Given the description of an element on the screen output the (x, y) to click on. 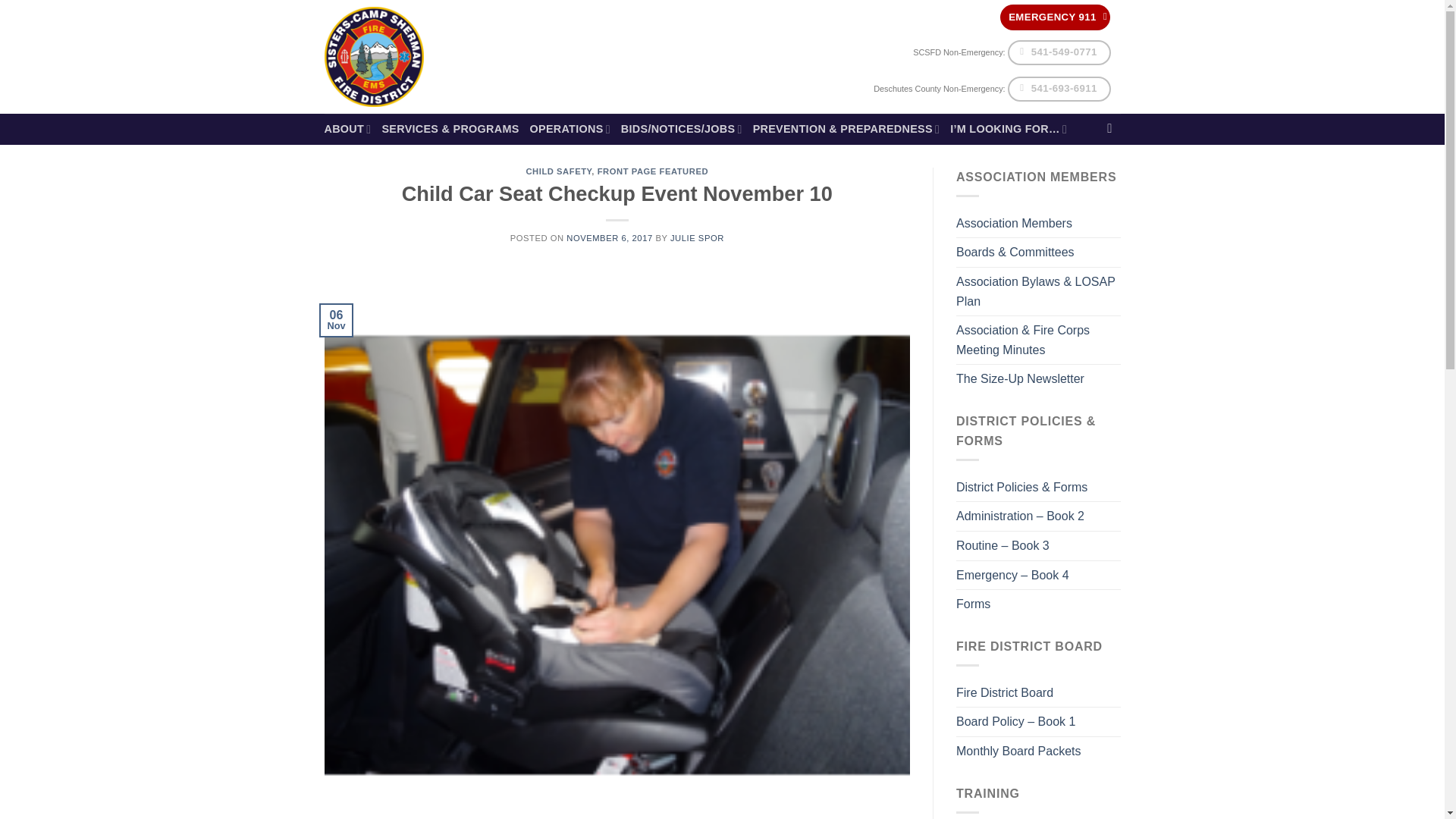
541-549-0771 (1058, 52)
EMERGENCY 911 (1054, 17)
ABOUT (347, 129)
541-693-6911 (1058, 88)
OPERATIONS (569, 129)
